Given the description of an element on the screen output the (x, y) to click on. 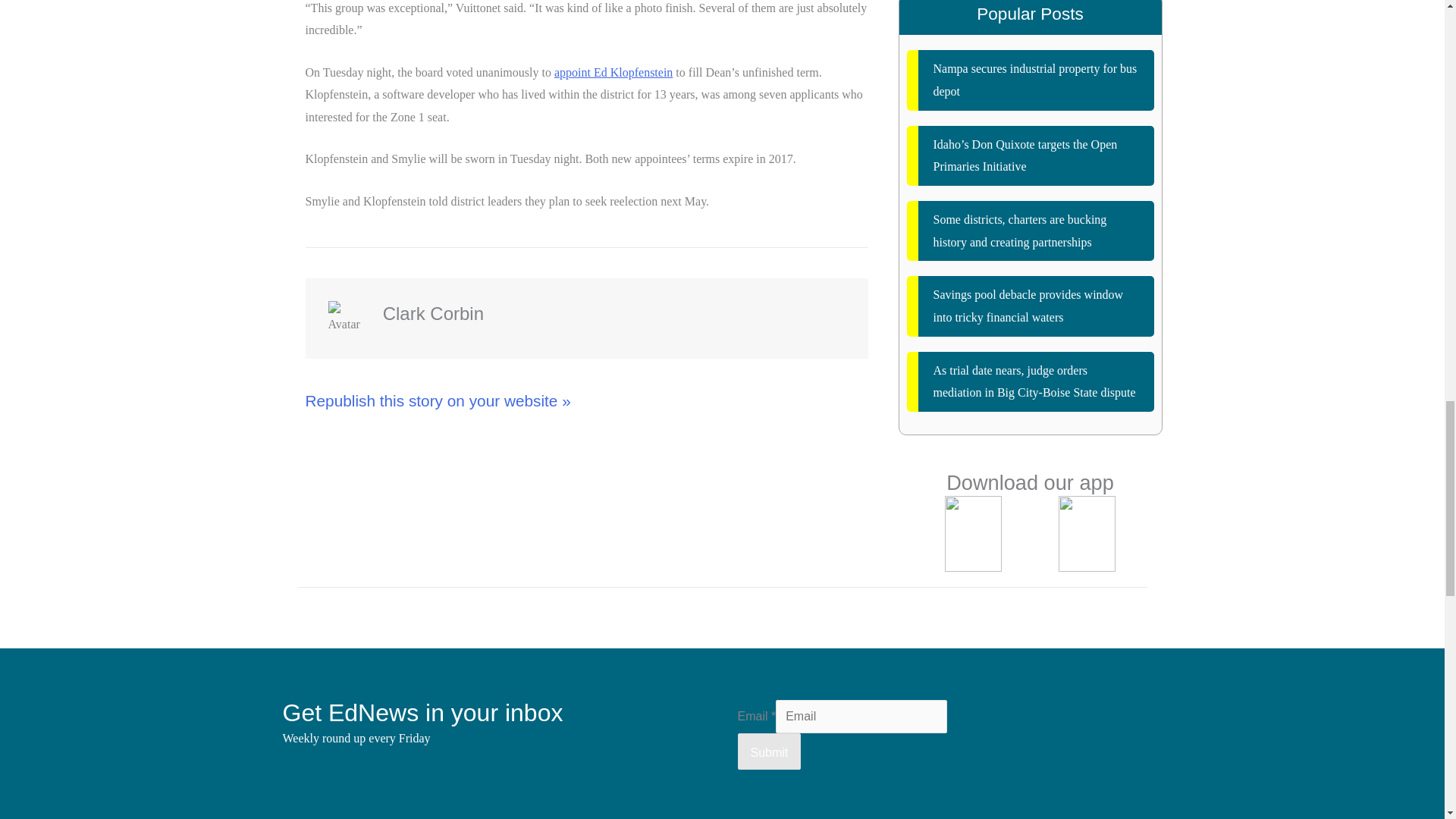
New Title IX rules go into effect, but not in Idaho (1030, 289)
New West Ada facility will support students with behaviors (1030, 213)
appoint Ed Klopfenstein (613, 72)
Submit (1101, 710)
